Given the description of an element on the screen output the (x, y) to click on. 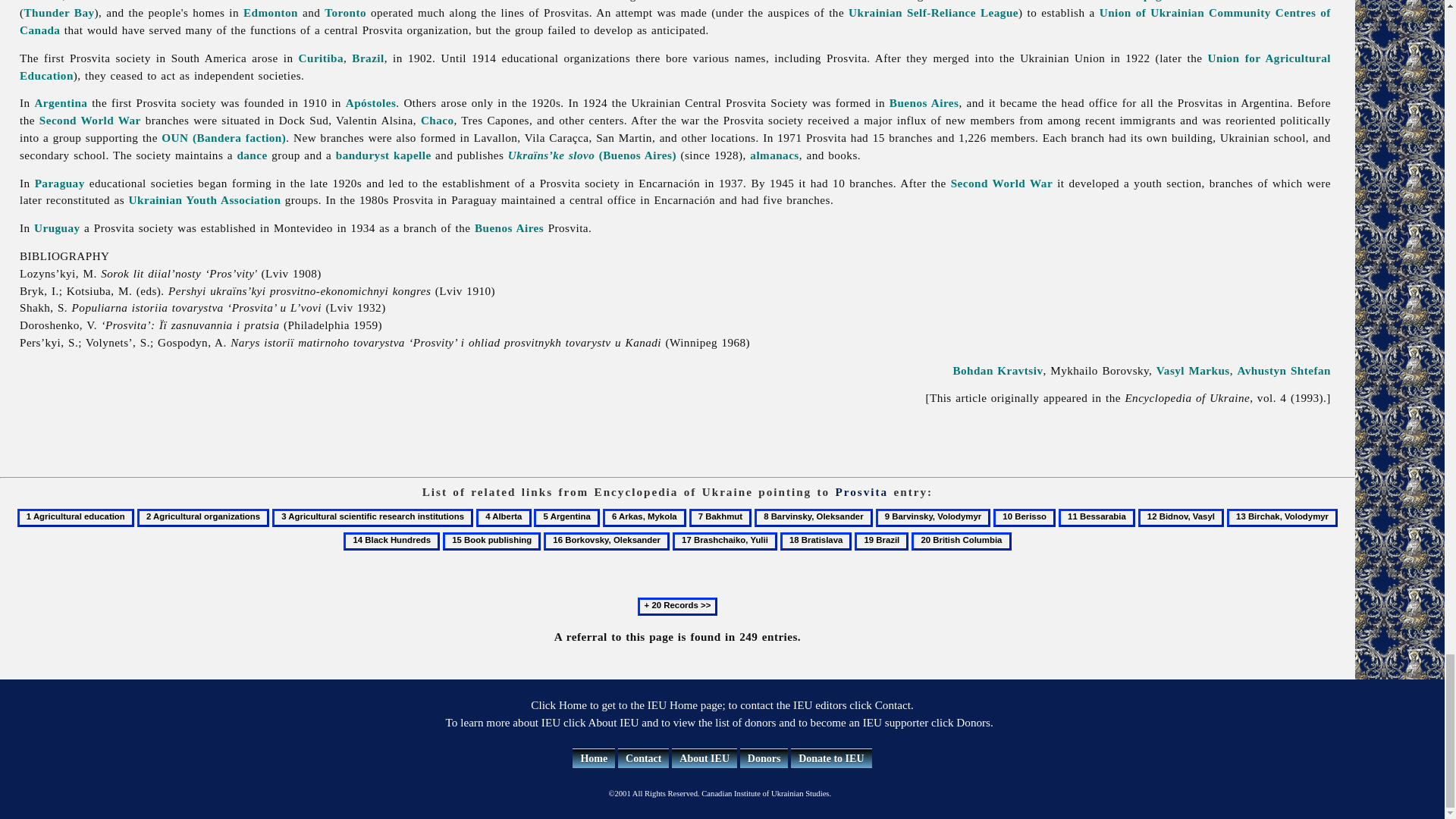
 1 Agricultural education  (75, 517)
 12 Bidnov, Vasyl  (1181, 517)
 5 Argentina  (566, 517)
 10 Berisso  (1023, 517)
 3 Agricultural scientific research institutions  (372, 517)
 15 Book publishing  (491, 541)
 11 Bessarabia  (1096, 517)
 16 Borkovsky, Oleksander  (606, 541)
 2 Agricultural organizations  (202, 517)
 14 Black Hundreds  (391, 541)
 9 Barvinsky, Volodymyr  (933, 517)
 6 Arkas, Mykola  (643, 517)
 17 Brashchaiko, Yulii  (724, 541)
 4 Alberta  (503, 517)
 8 Barvinsky, Oleksander  (813, 517)
